Given the description of an element on the screen output the (x, y) to click on. 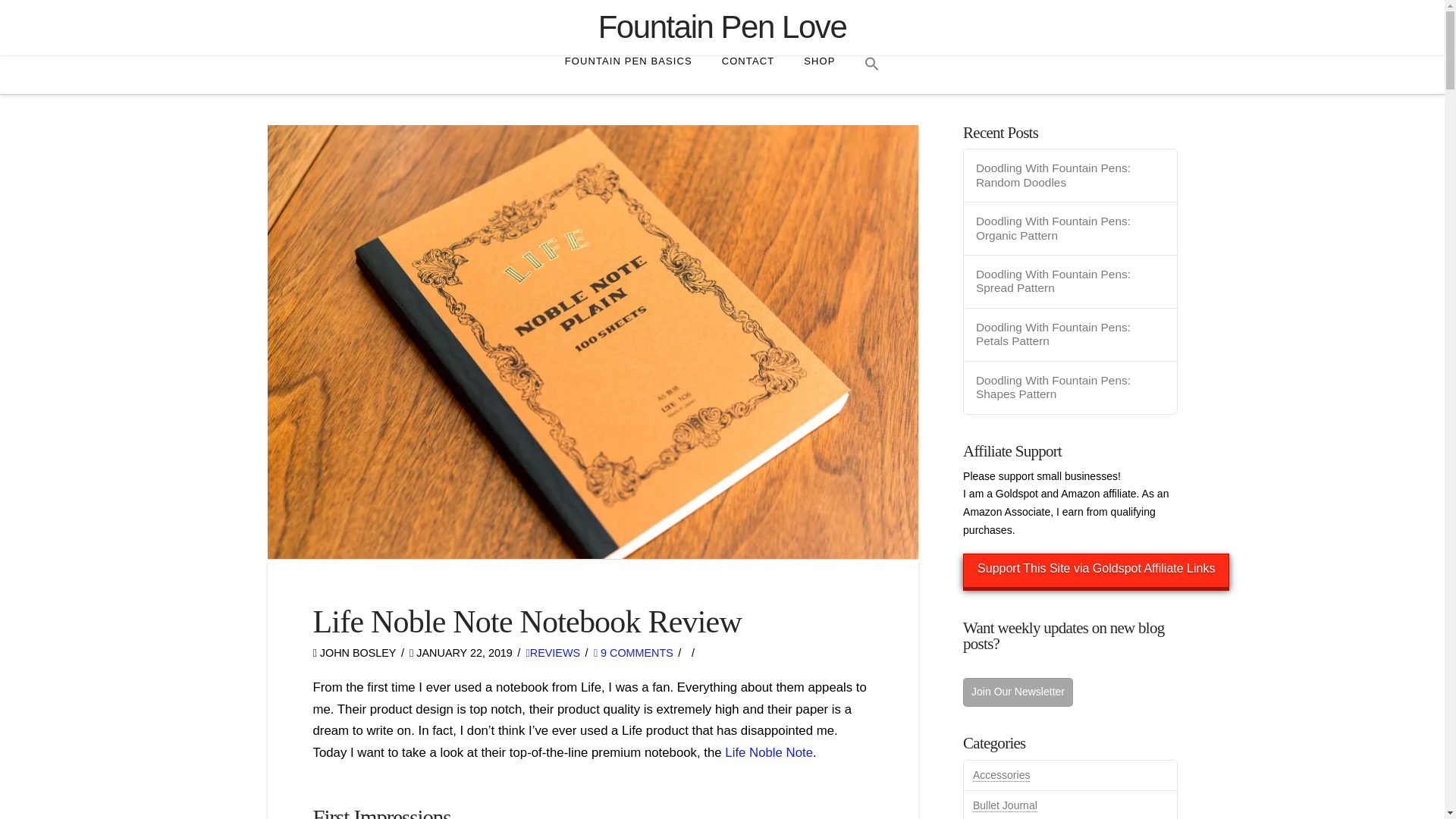
Fountain Pen Love (722, 27)
Life Noble Note (768, 752)
9 COMMENTS (633, 652)
SHOP (818, 75)
FOUNTAIN PEN BASICS (628, 75)
CONTACT (747, 75)
REVIEWS (552, 652)
Support This Site via Goldspot Affiliate Links (1095, 570)
